Given the description of an element on the screen output the (x, y) to click on. 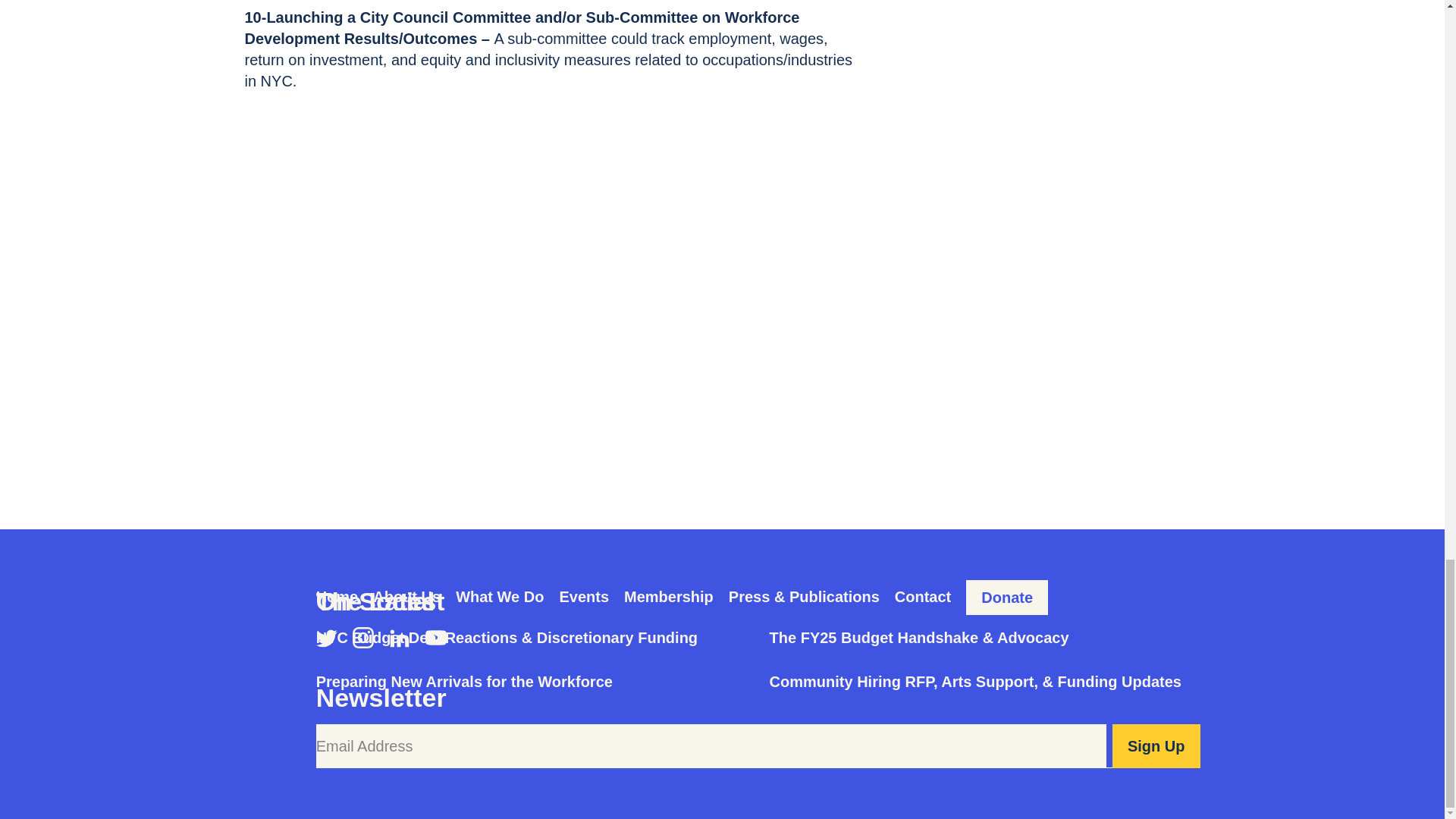
Sign Up (1155, 745)
Instagram (363, 637)
About Us (406, 596)
LinkedIn (399, 637)
Membership (668, 596)
Events (583, 596)
YouTube (435, 637)
Twitter (326, 637)
Contact (922, 596)
Preparing New Arrivals for the Workforce (463, 681)
What We Do (499, 596)
Home (336, 596)
Donate (1007, 597)
Sign Up (1155, 745)
